Given the description of an element on the screen output the (x, y) to click on. 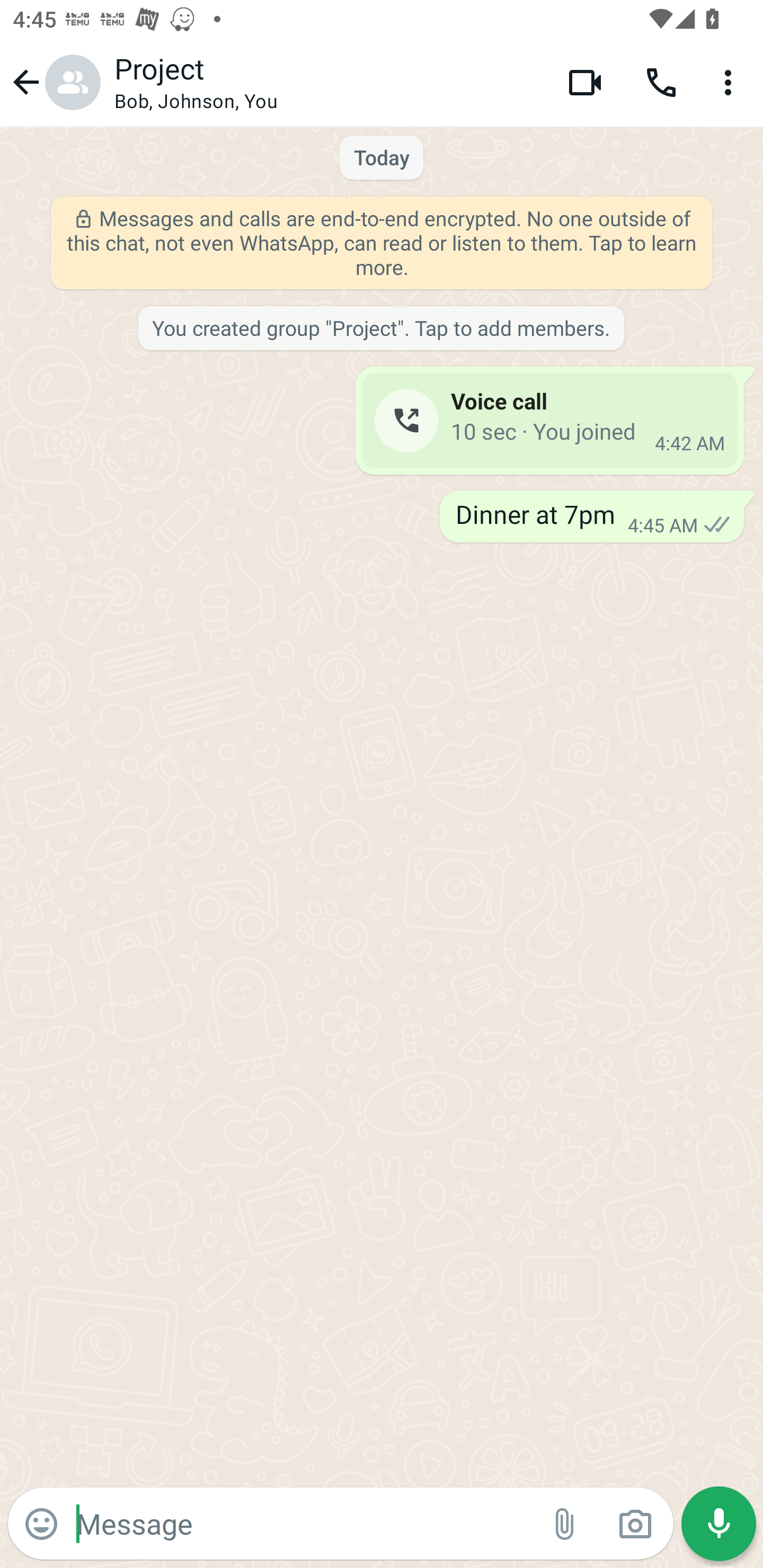
Project Bob, Johnson, You (327, 82)
Navigate up (54, 82)
Video call (585, 81)
Voice call (661, 81)
More options (731, 81)
You created group "Project". Tap to add members. (381, 329)
Emoji (41, 1523)
Attach (565, 1523)
Camera (634, 1523)
Message (303, 1523)
